Given the description of an element on the screen output the (x, y) to click on. 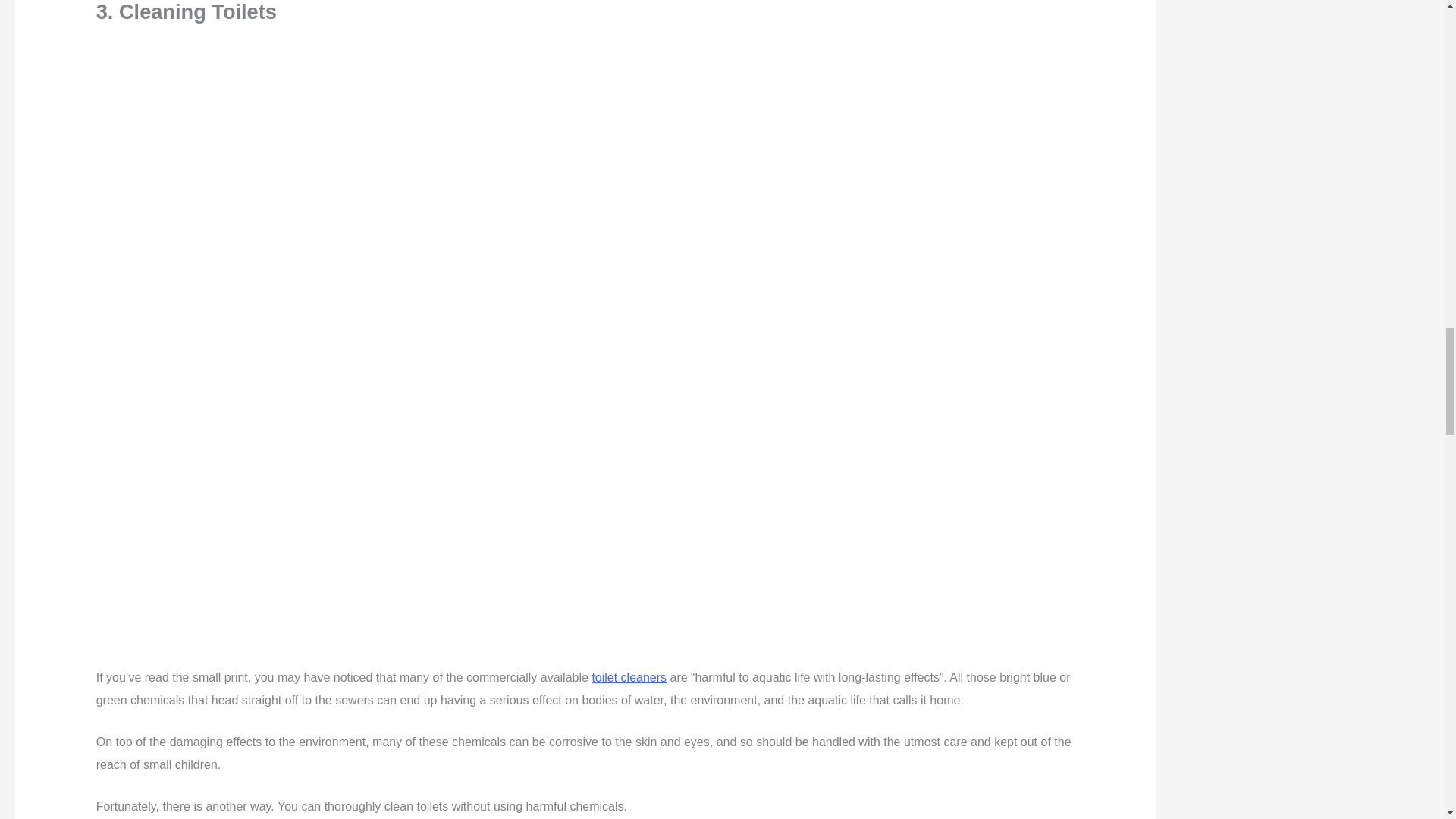
toilet cleaners (628, 676)
